Given the description of an element on the screen output the (x, y) to click on. 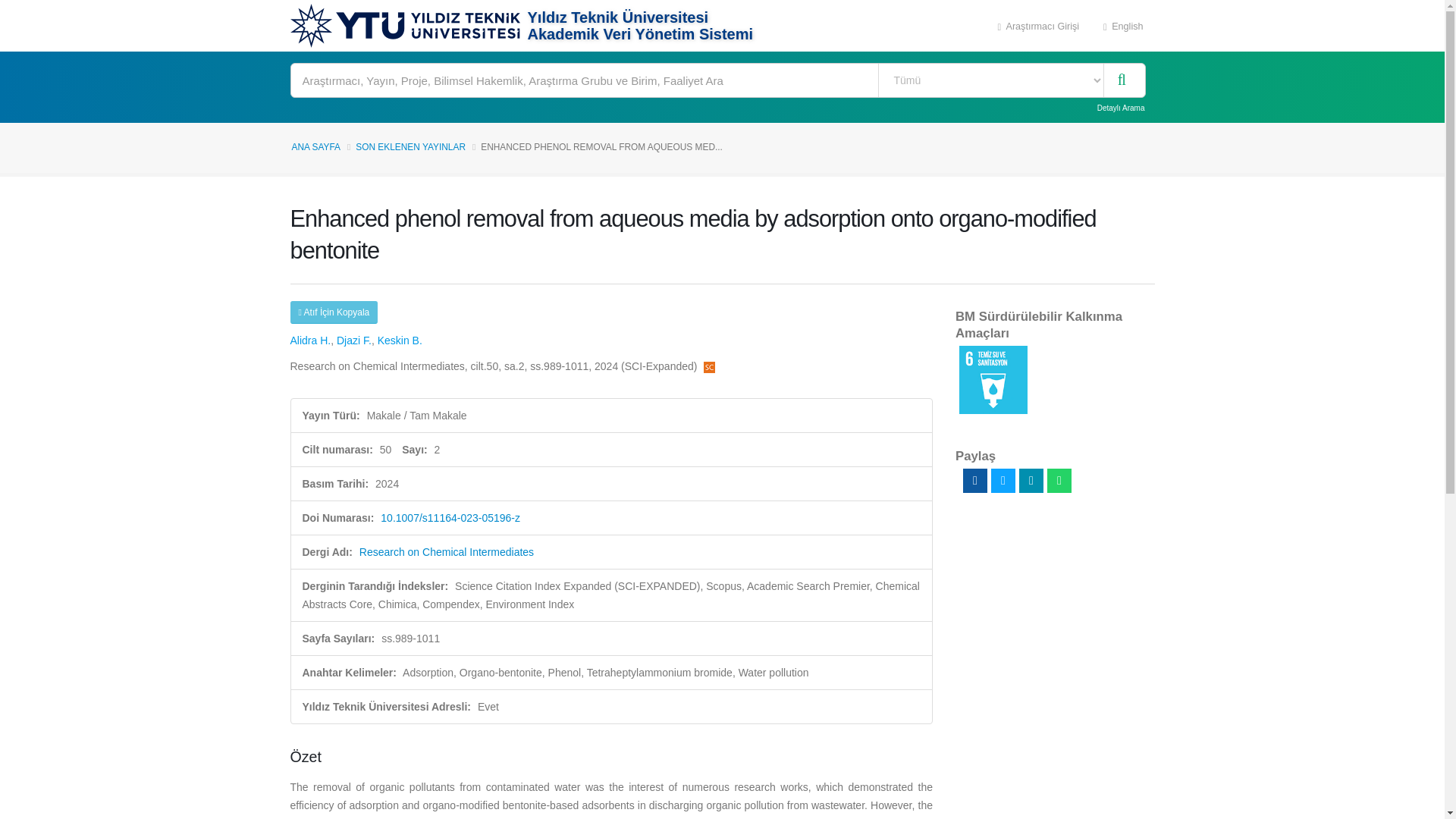
Research on Chemical Intermediates (446, 551)
Hanane Alidra (309, 340)
English (1123, 26)
Alidra H. (309, 340)
ANA SAYFA (315, 146)
Faycal Djazi (353, 340)
Djazi F. (353, 340)
SON EKLENEN YAYINLAR (410, 146)
Keskin B. (399, 340)
